Given the description of an element on the screen output the (x, y) to click on. 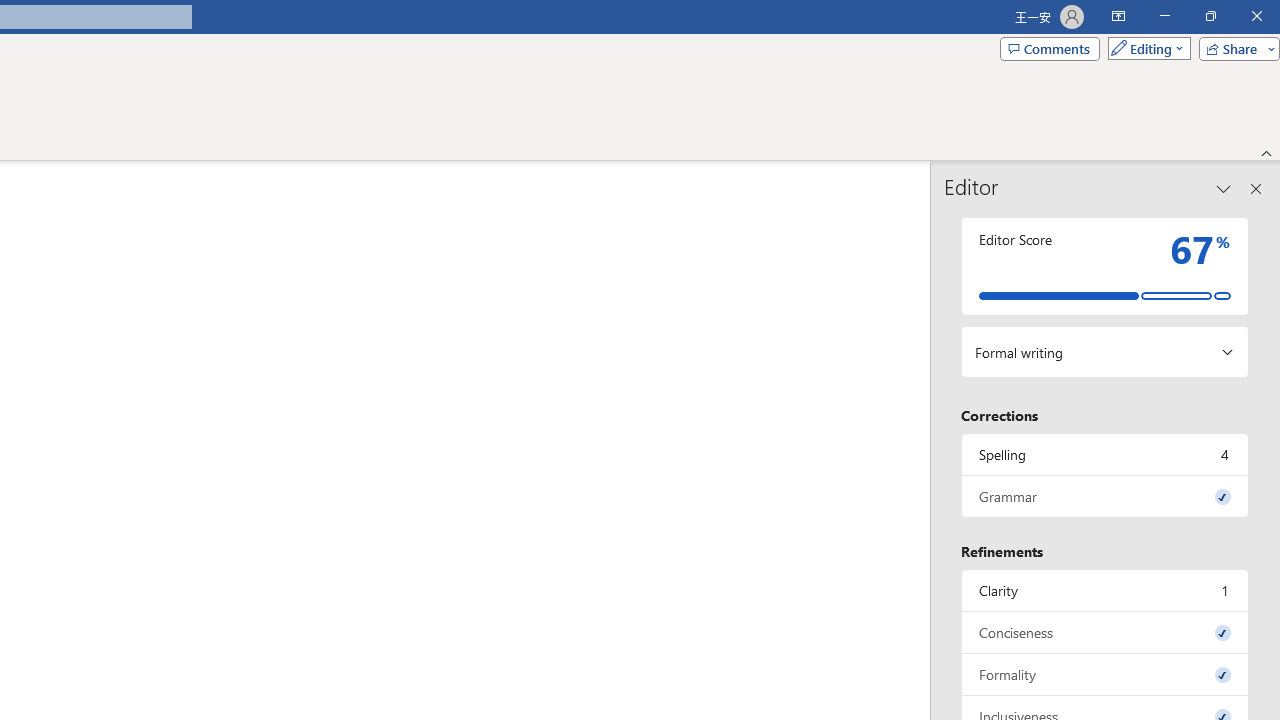
Editing (1144, 47)
